Given the description of an element on the screen output the (x, y) to click on. 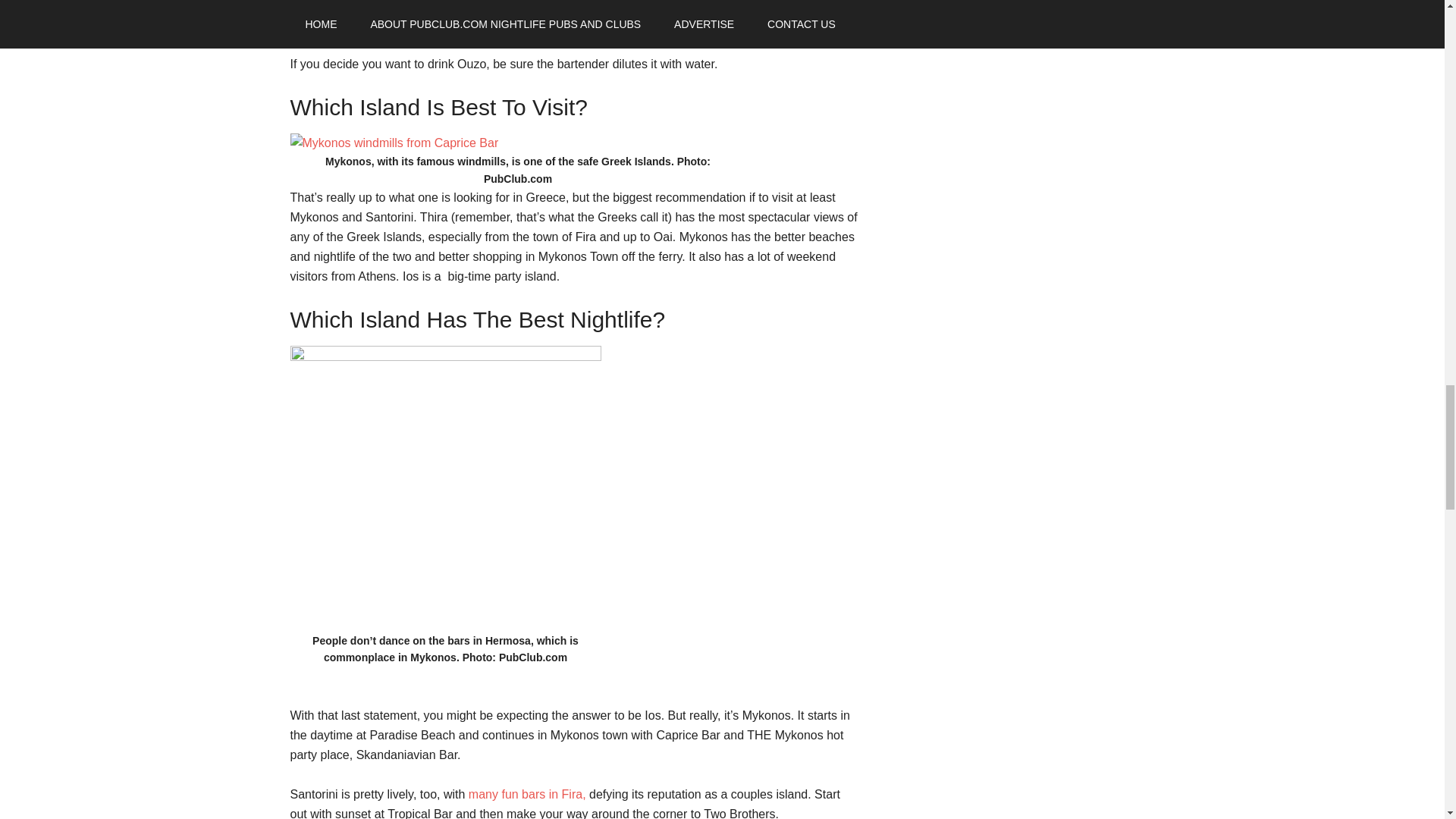
many fun bars in Fira, (527, 793)
